Given the description of an element on the screen output the (x, y) to click on. 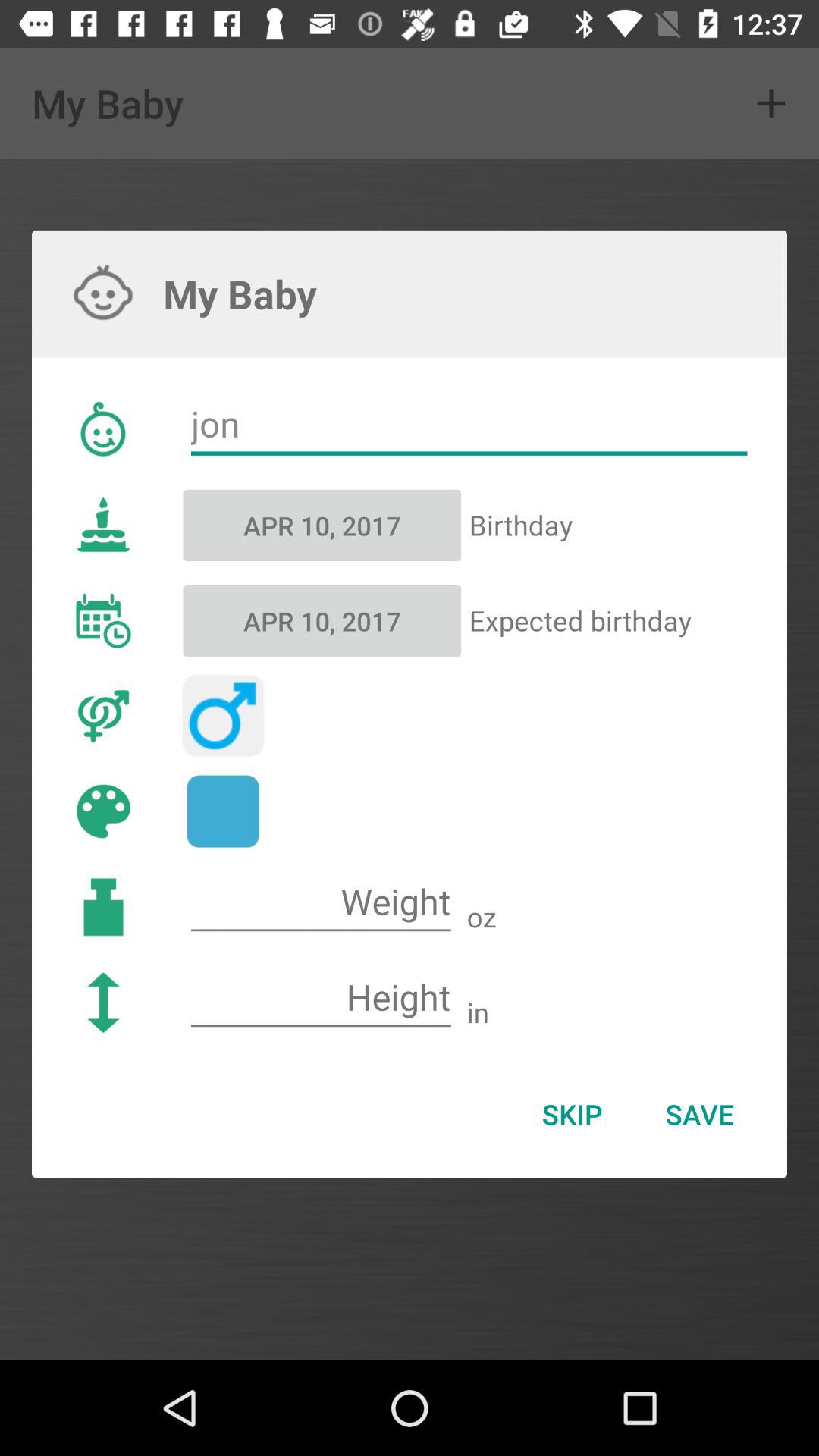
tap the jon item (469, 425)
